Given the description of an element on the screen output the (x, y) to click on. 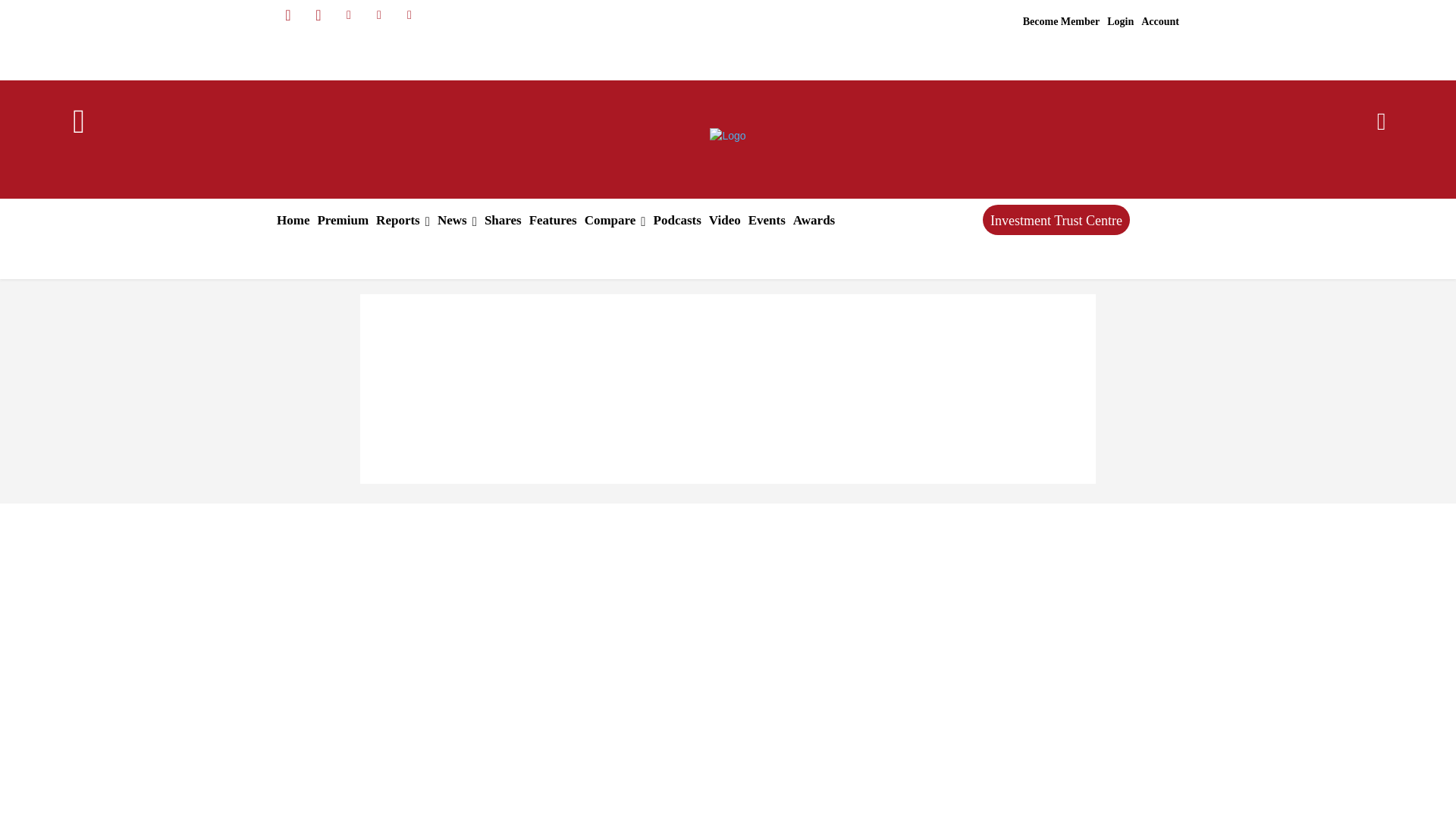
Instagram (317, 15)
Vimeo (409, 15)
Linkedin (348, 15)
Facebook (287, 15)
Twitter (379, 15)
